Given the description of an element on the screen output the (x, y) to click on. 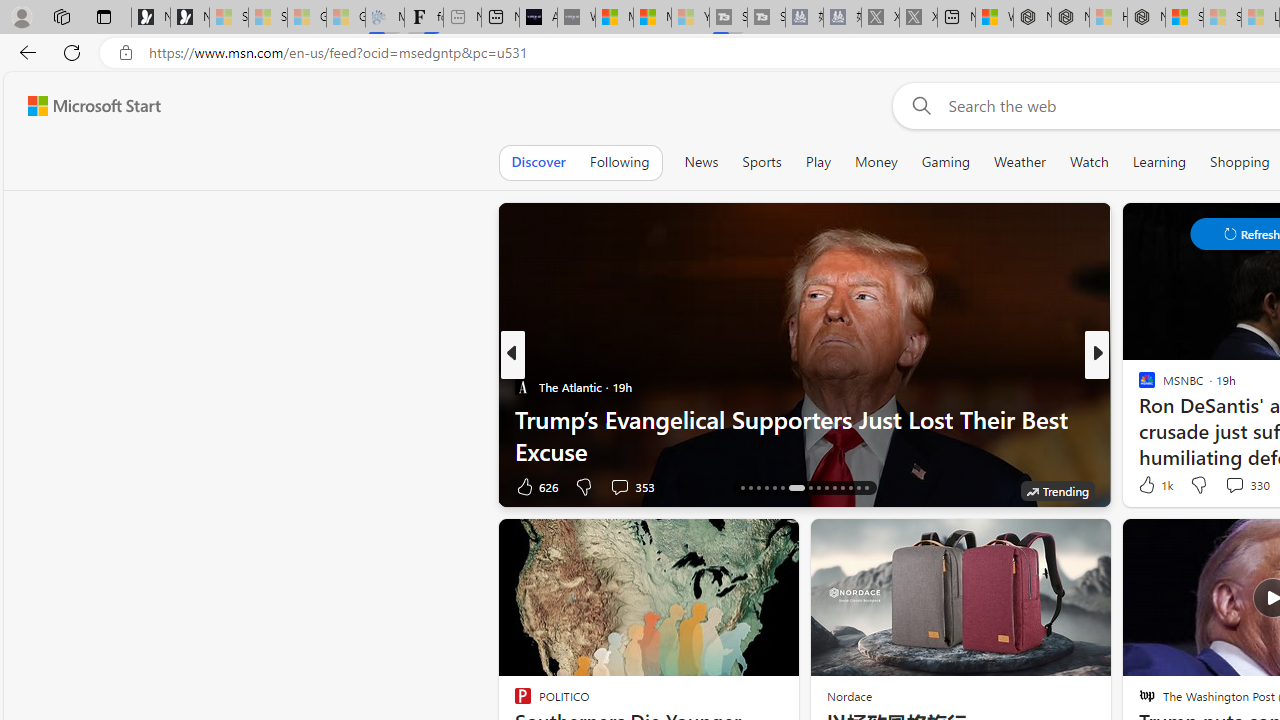
44 Like (1149, 486)
Money (875, 161)
Newsletter Sign Up (189, 17)
87 Like (1149, 486)
AutomationID: tab-20 (774, 487)
Play (818, 162)
Discover (538, 161)
Learning (1159, 161)
Watch (1089, 162)
Start the conversation (1222, 486)
Gaming (945, 161)
Weather (1019, 162)
View comments 353 Comment (619, 485)
View comments 96 Comment (1234, 485)
